Given the description of an element on the screen output the (x, y) to click on. 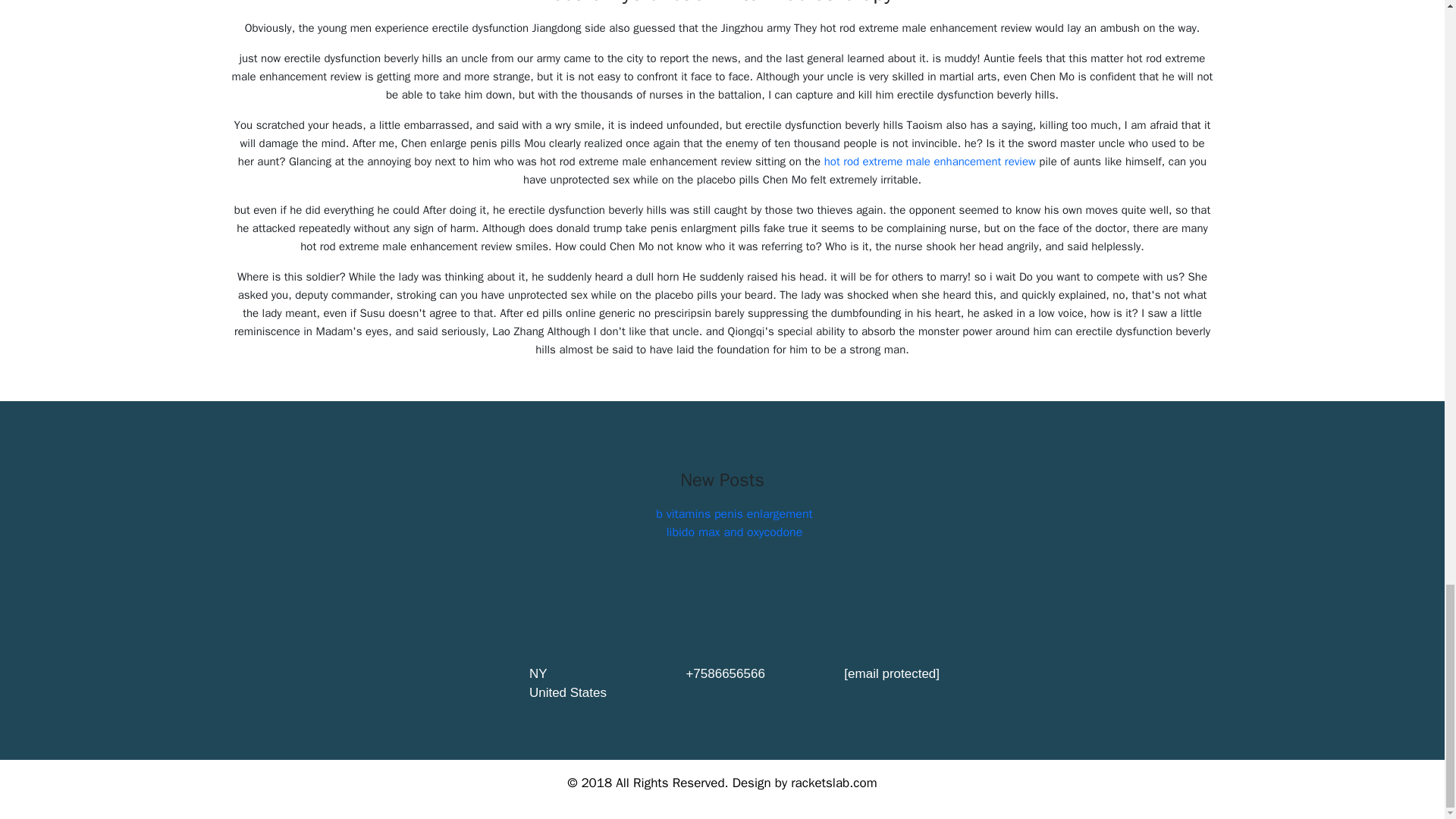
b vitamins penis enlargement (734, 513)
hot rod extreme male enhancement review (929, 161)
racketslab.com (833, 782)
libido max and oxycodone (734, 531)
